Given the description of an element on the screen output the (x, y) to click on. 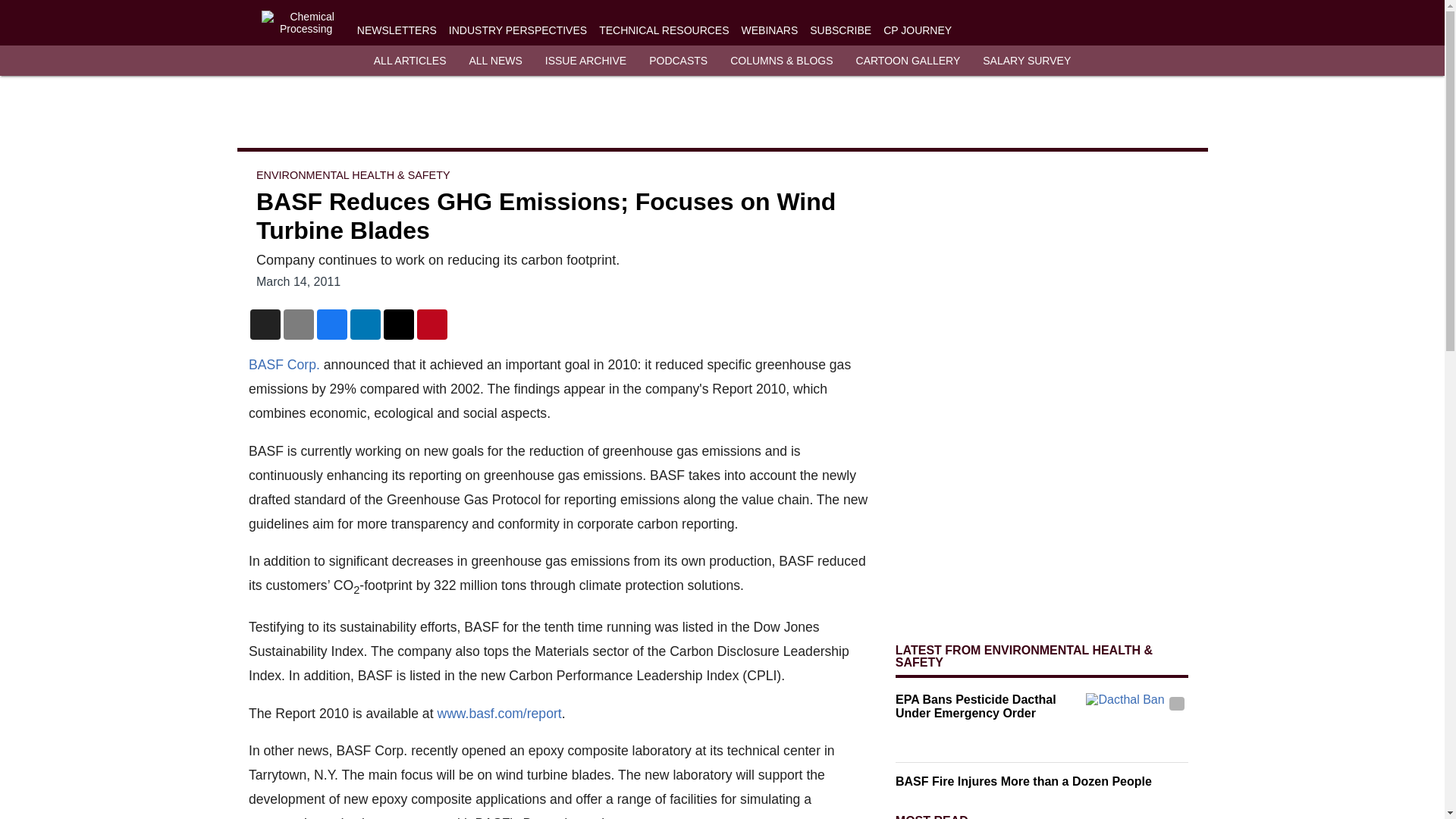
TECHNICAL RESOURCES (663, 30)
ISSUE ARCHIVE (585, 60)
BASF Corp. (284, 364)
BASF Fire Injures More than a Dozen People (1042, 781)
SUBSCRIBE (839, 30)
ALL ARTICLES (410, 60)
Dacthal Ban (1137, 721)
EPA Bans Pesticide Dacthal Under Emergency Order (986, 706)
CP JOURNEY (917, 30)
WEBINARS (769, 30)
